Given the description of an element on the screen output the (x, y) to click on. 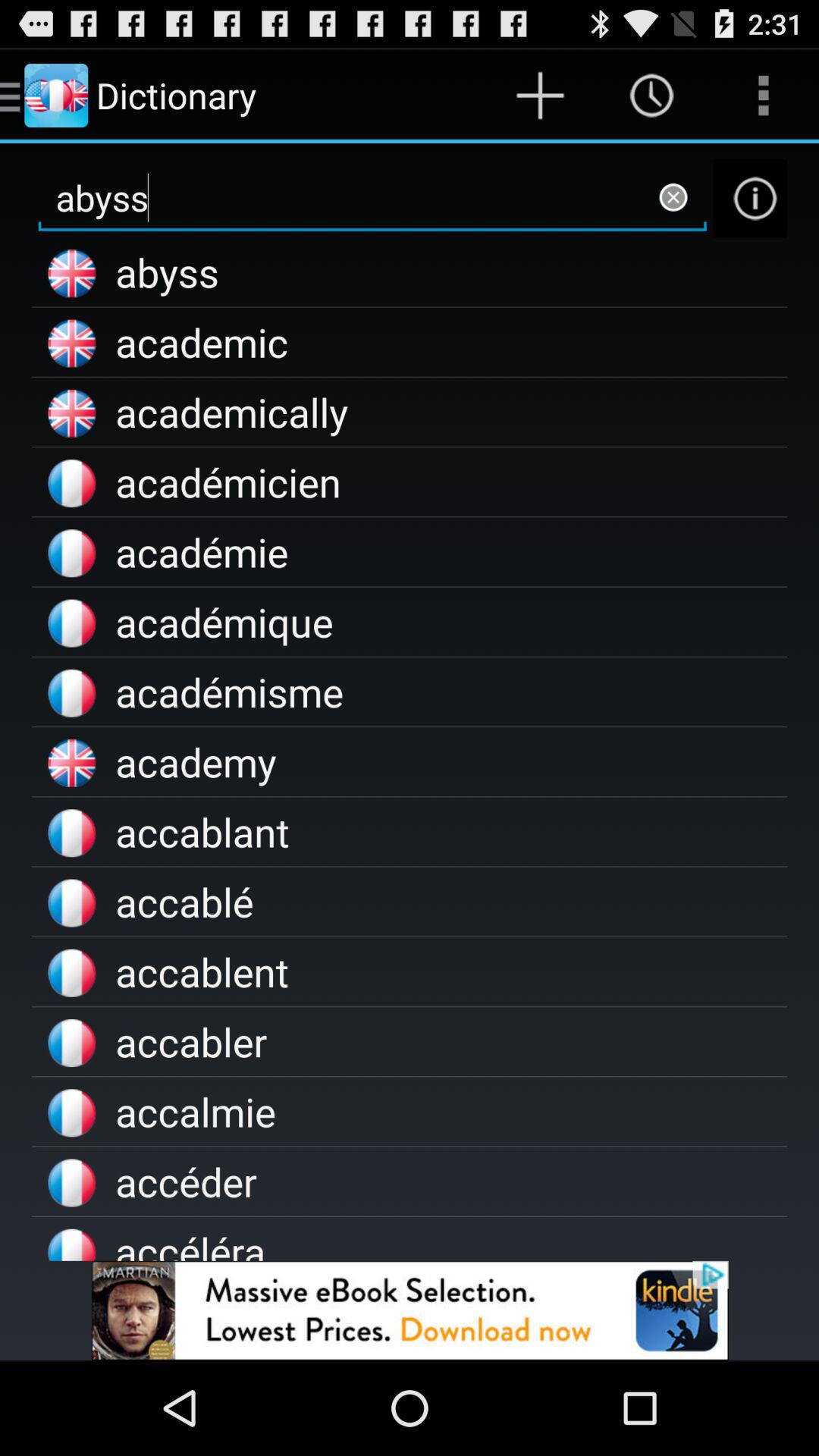
install an app (409, 1310)
